Given the description of an element on the screen output the (x, y) to click on. 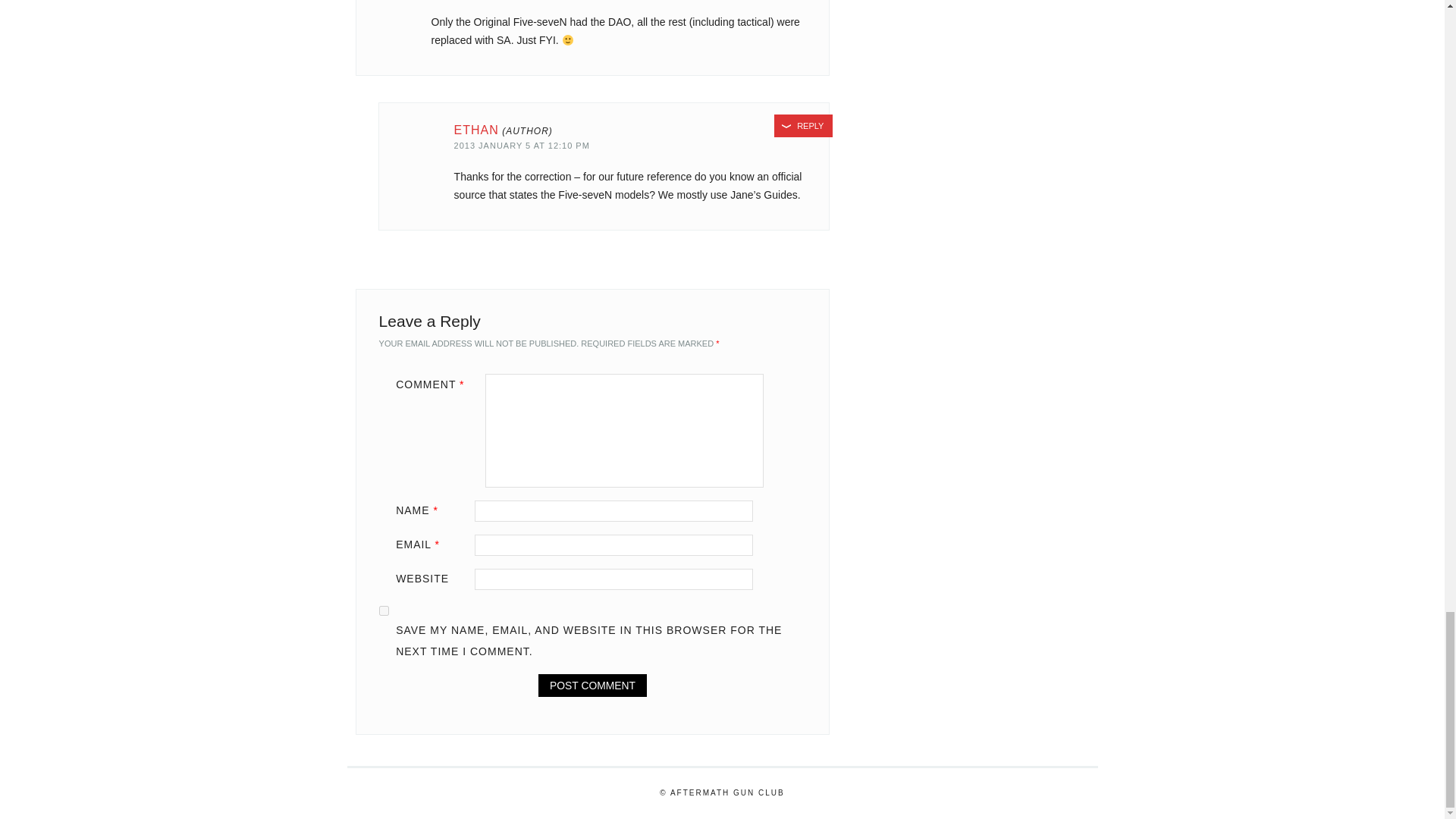
Post Comment (592, 685)
REPLY (803, 125)
yes (383, 610)
ETHAN (476, 129)
2013 JANUARY 5 AT 12:10 PM (521, 144)
